Given the description of an element on the screen output the (x, y) to click on. 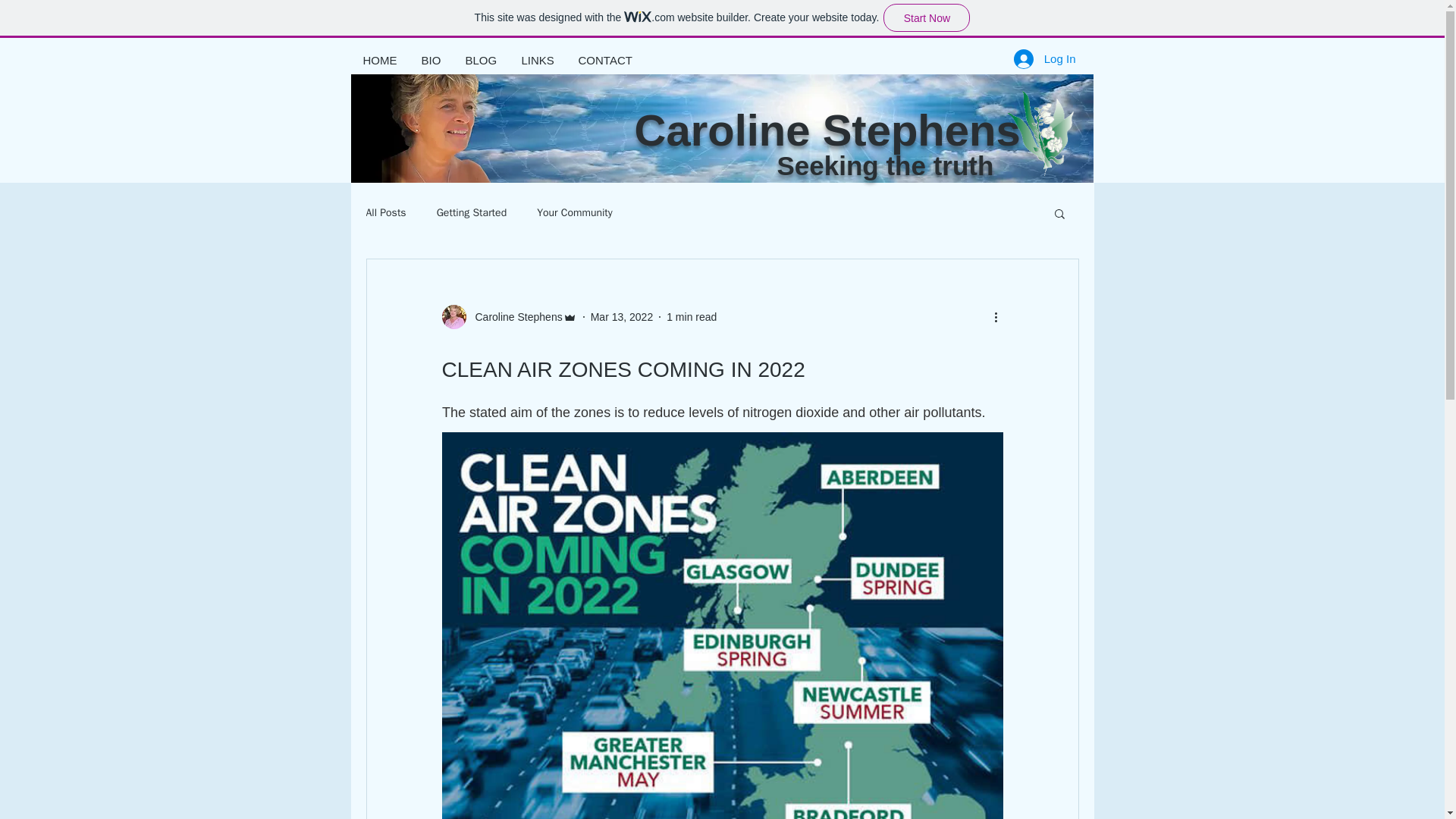
BIO (430, 60)
All Posts (385, 213)
Log In (1044, 58)
BLOG (480, 60)
CONTACT (604, 60)
Getting Started (471, 213)
HOME (379, 60)
Caroline Stephens (513, 317)
Your Community (574, 213)
LINKS (537, 60)
